Given the description of an element on the screen output the (x, y) to click on. 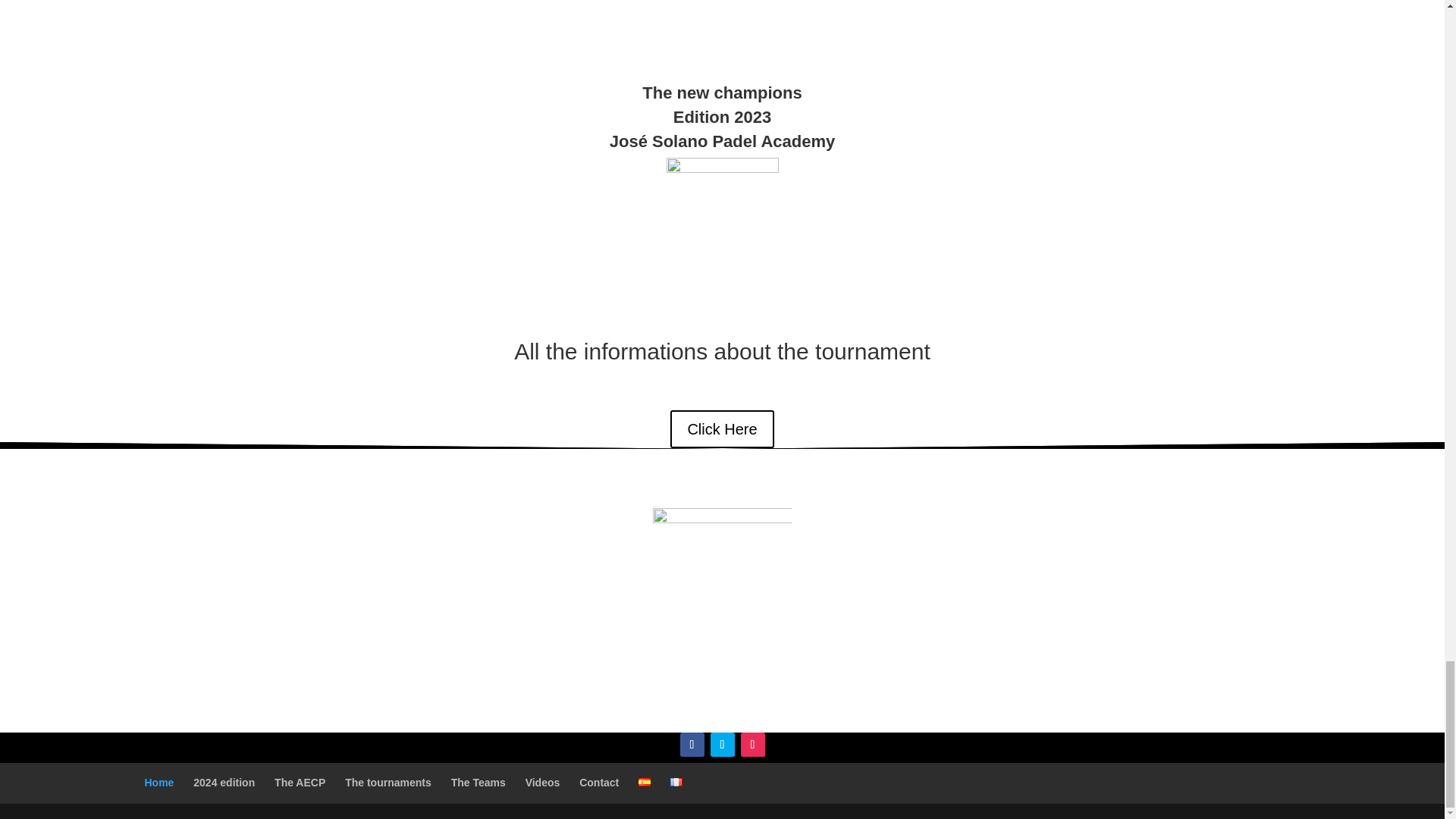
Follow on Facebook (691, 744)
Follow on Twitter (721, 744)
Follow on Instagram (751, 744)
